Given the description of an element on the screen output the (x, y) to click on. 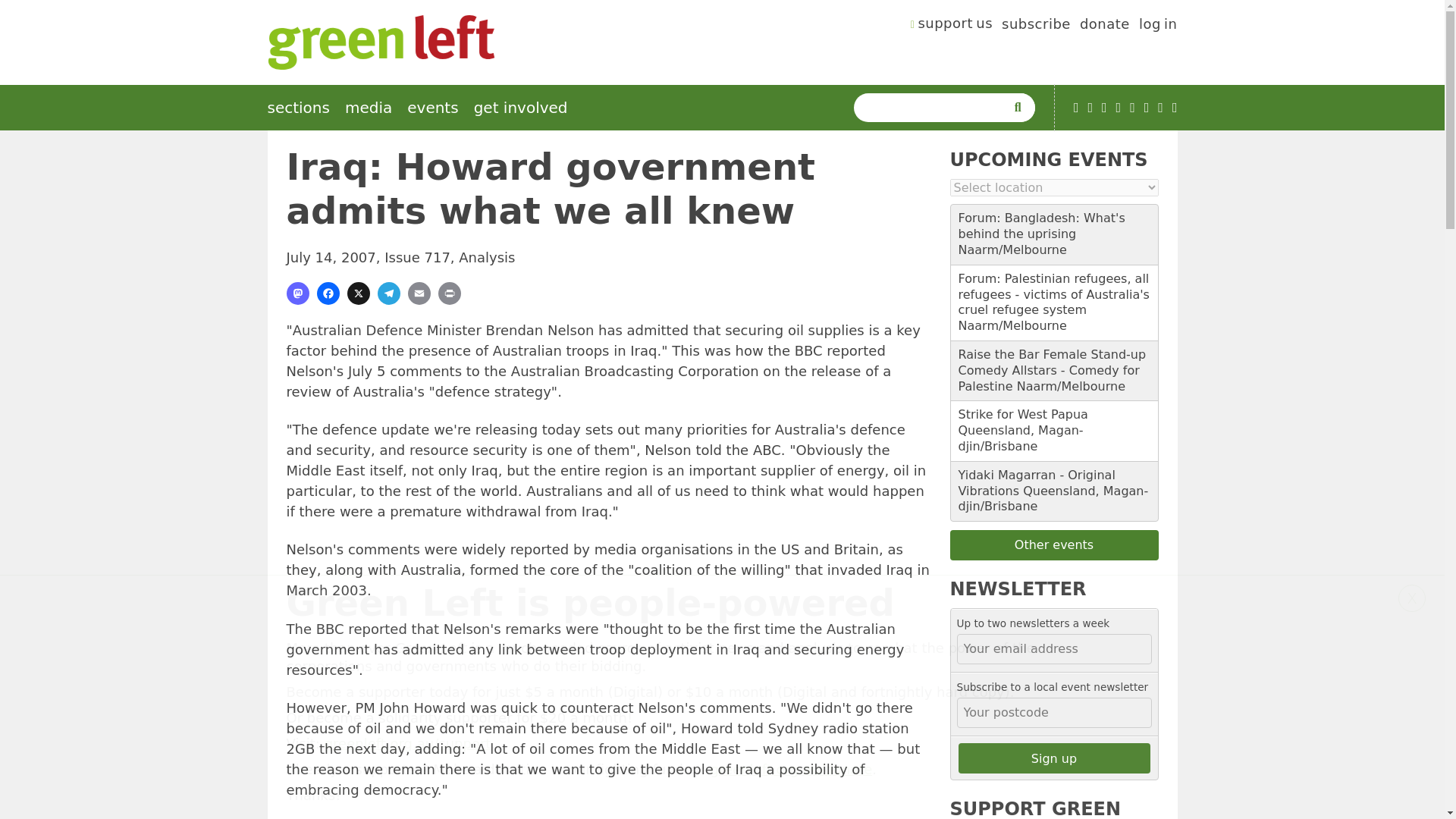
Share on Telegram (388, 292)
Share on Facebook (328, 292)
Sign up (1054, 757)
Share on X (358, 292)
subscribe (1035, 26)
Share on Mastondon (297, 292)
share via email (418, 292)
donate (1104, 26)
support us (951, 26)
Enter the terms you wish to search for. (932, 107)
